Given the description of an element on the screen output the (x, y) to click on. 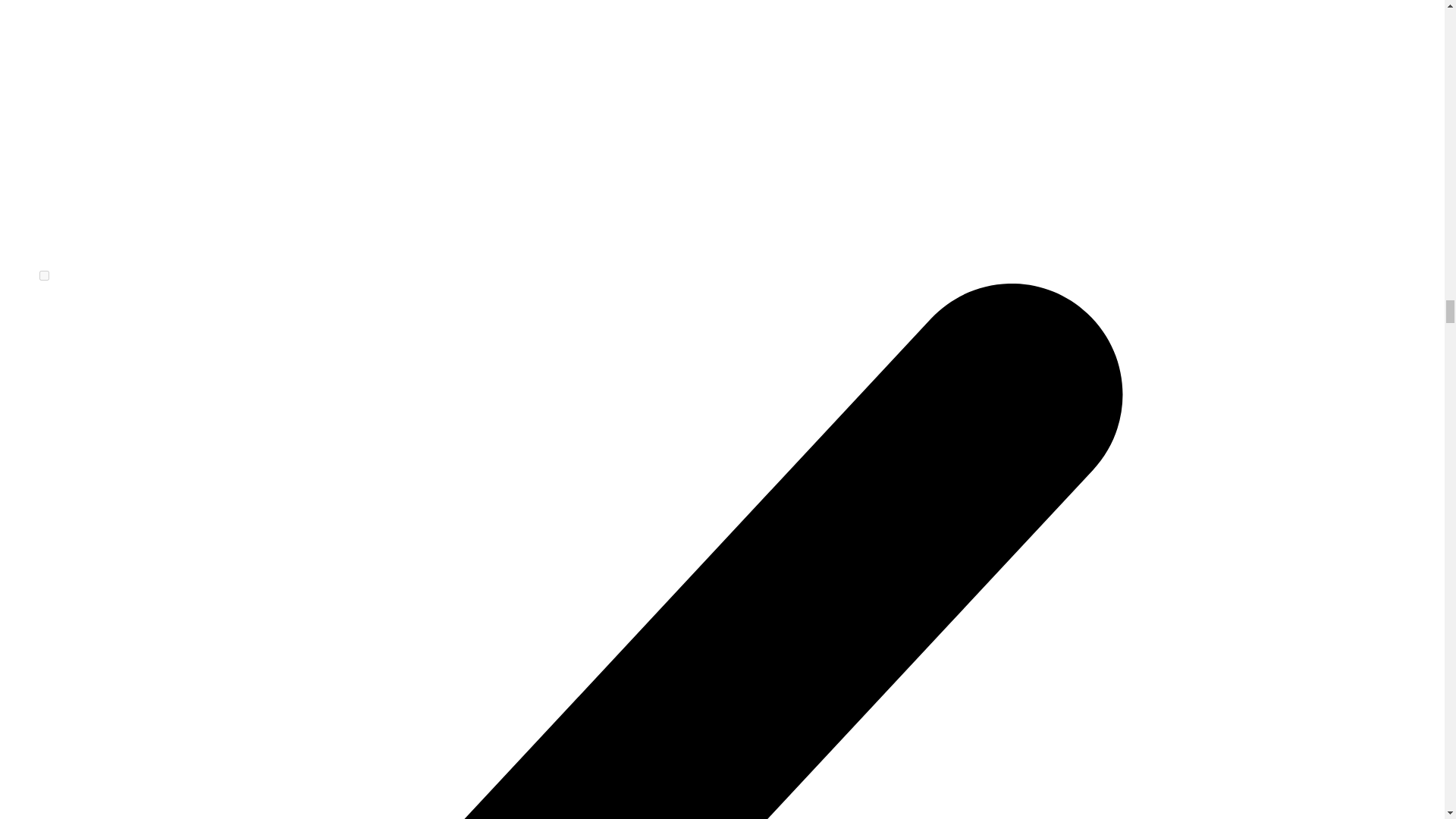
on (44, 275)
